Given the description of an element on the screen output the (x, y) to click on. 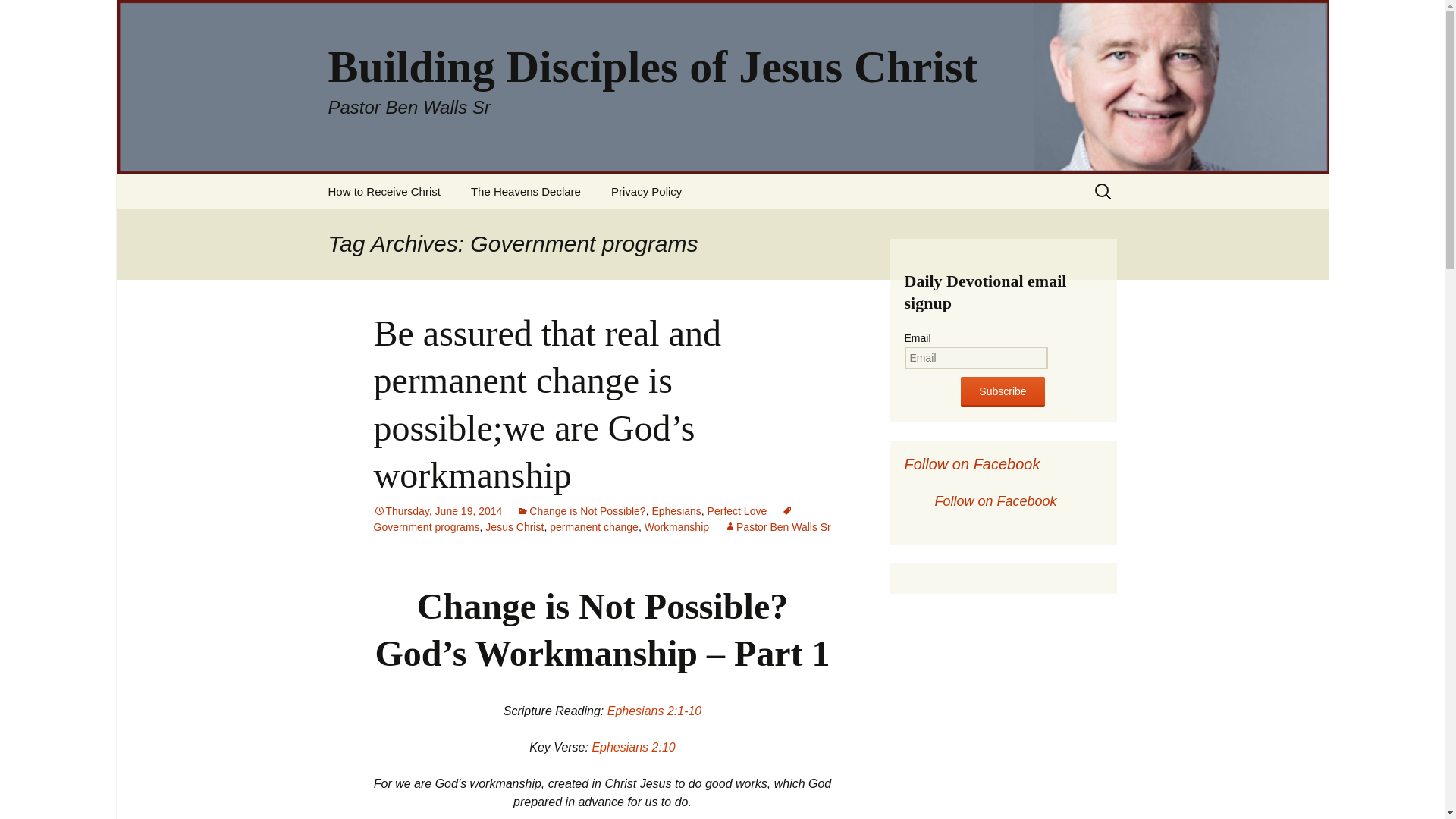
Follow on Facebook (971, 463)
Workmanship (677, 526)
Jesus Christ (513, 526)
Pastor Ben Walls Sr (777, 526)
Perfect Love (737, 510)
Change is Not Possible? (580, 510)
View all posts by Pastor Ben Walls Sr (777, 526)
Privacy Policy (646, 191)
